Given the description of an element on the screen output the (x, y) to click on. 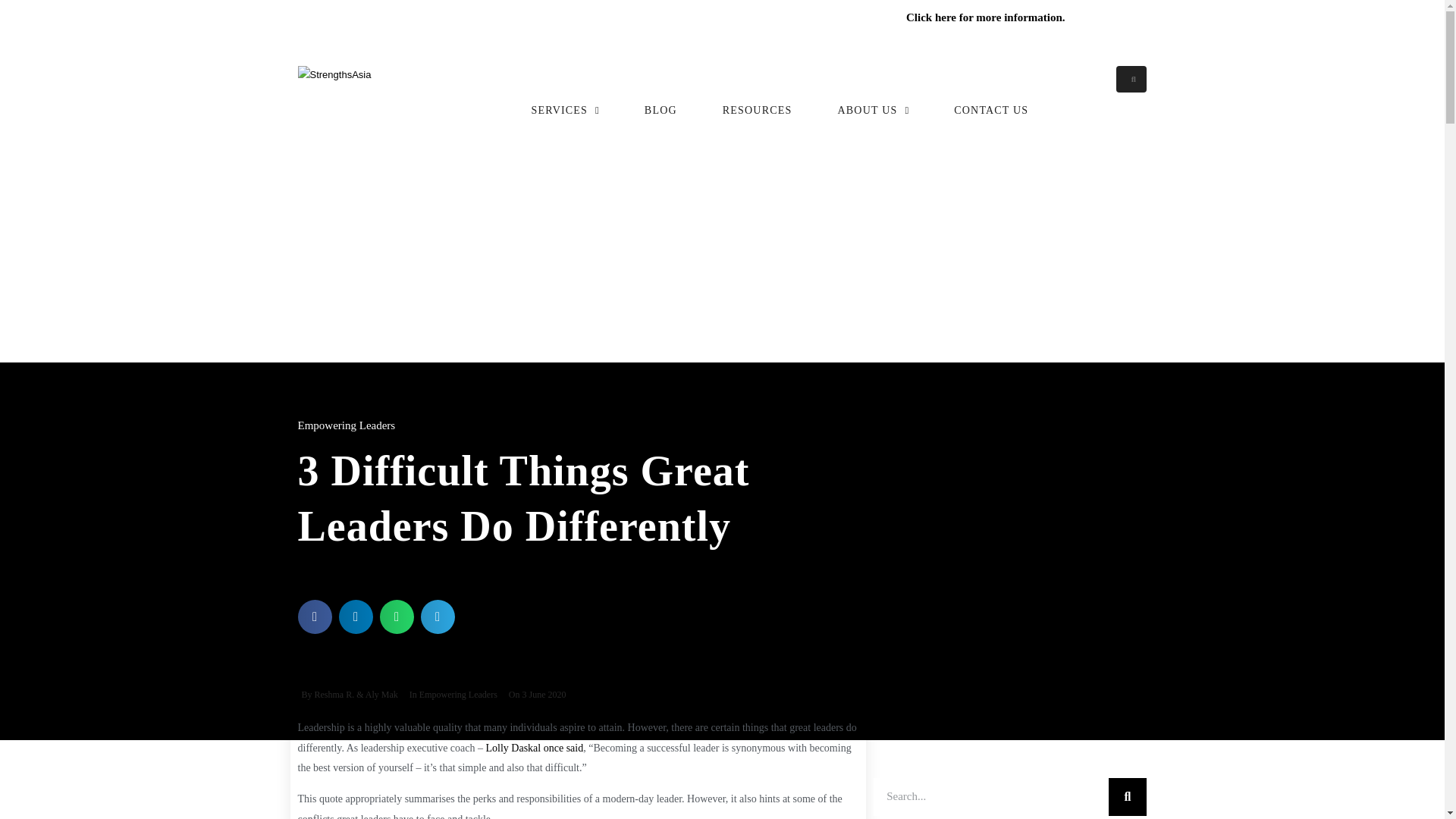
RESOURCES (757, 102)
ABOUT US (872, 102)
CONTACT US (990, 102)
Empowering Leaders (458, 694)
Empowering Leaders (345, 425)
Lolly Daskal once said (534, 747)
SERVICES (564, 102)
Click here for more information. (985, 17)
